Given the description of an element on the screen output the (x, y) to click on. 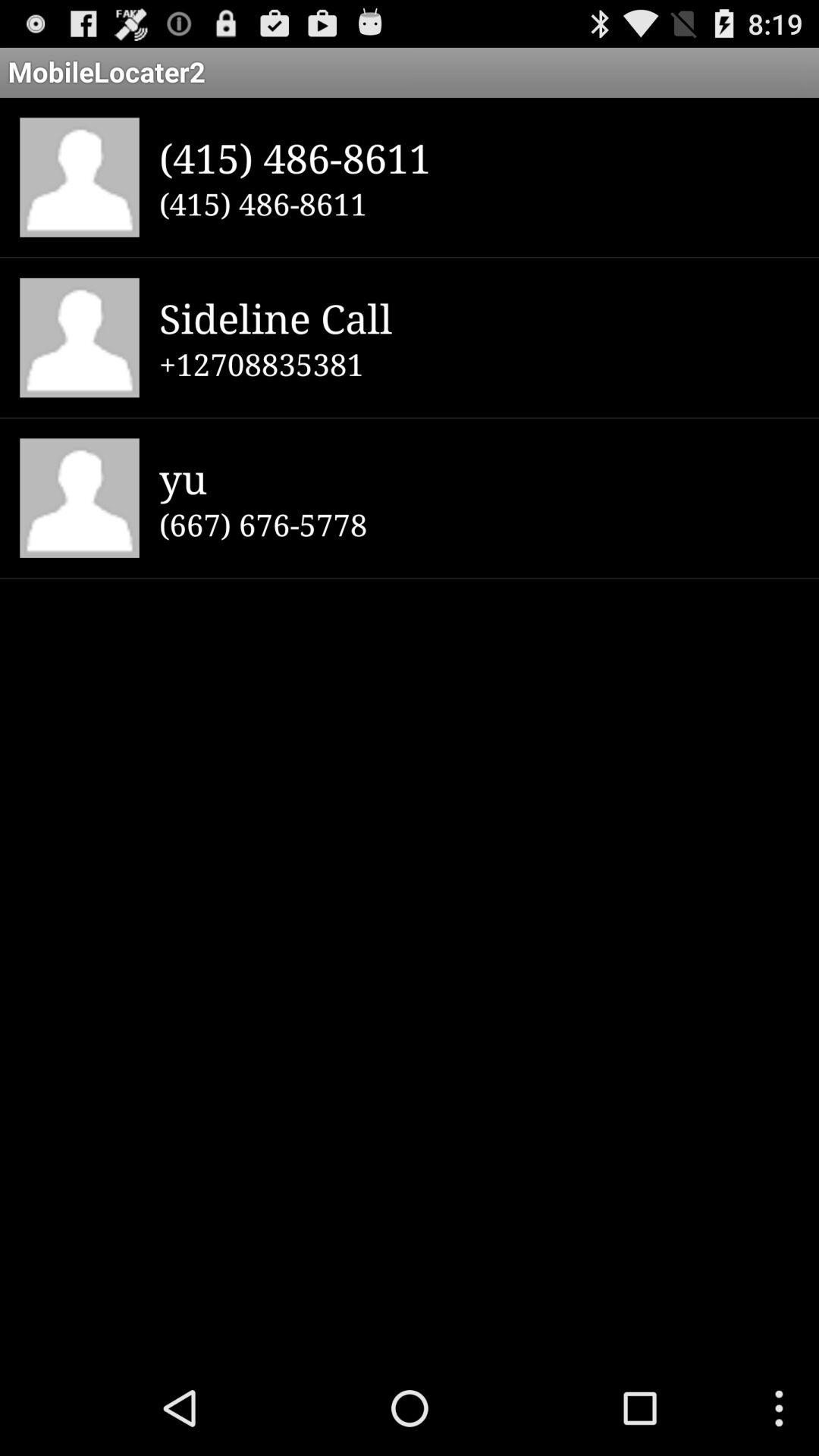
tap item below the (415) 486-8611 item (479, 317)
